Given the description of an element on the screen output the (x, y) to click on. 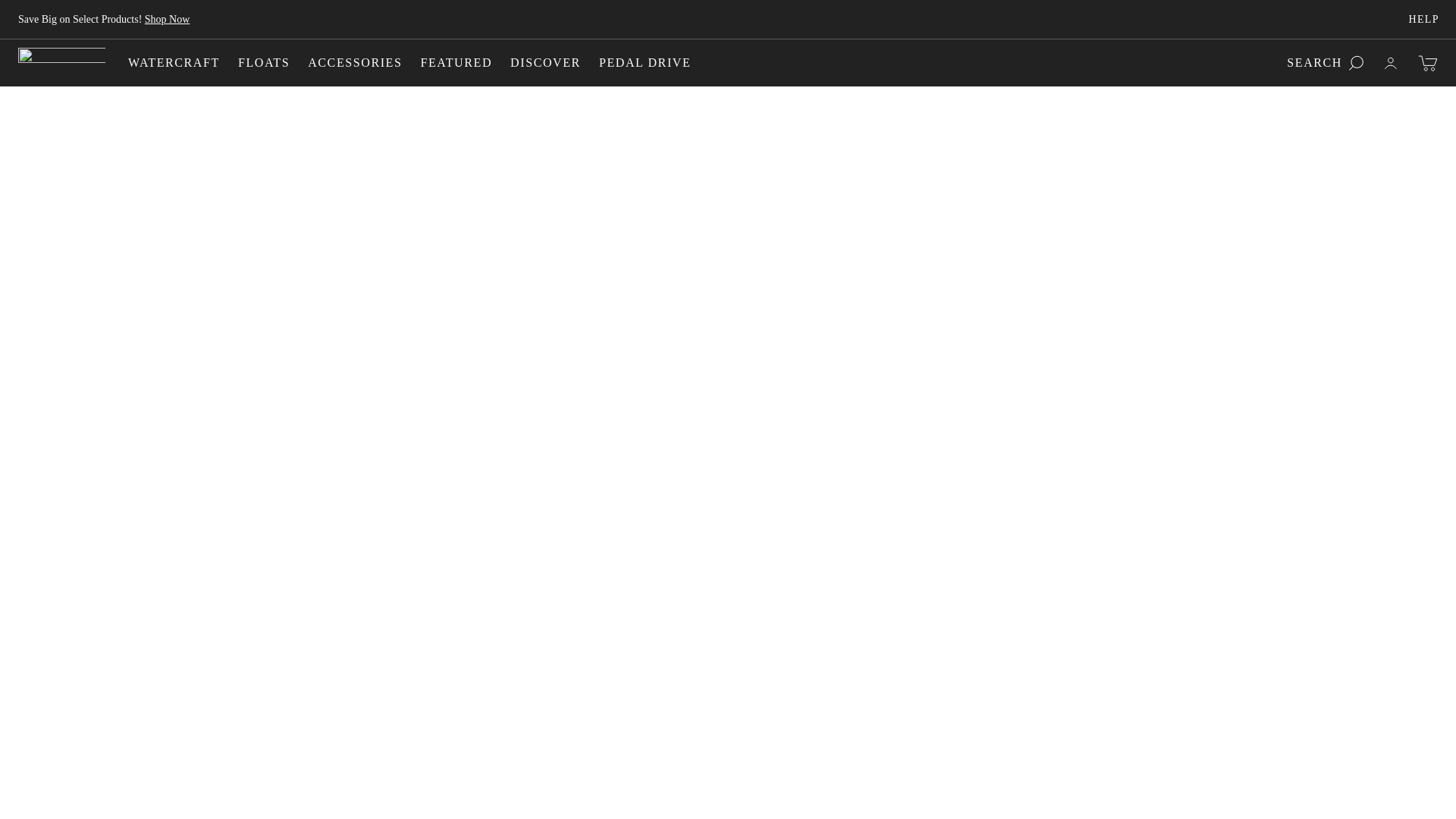
FLOATS (263, 62)
Shop Now (167, 19)
ACCESSORIES (354, 62)
HELP (1423, 19)
WATERCRAFT (173, 62)
